Given the description of an element on the screen output the (x, y) to click on. 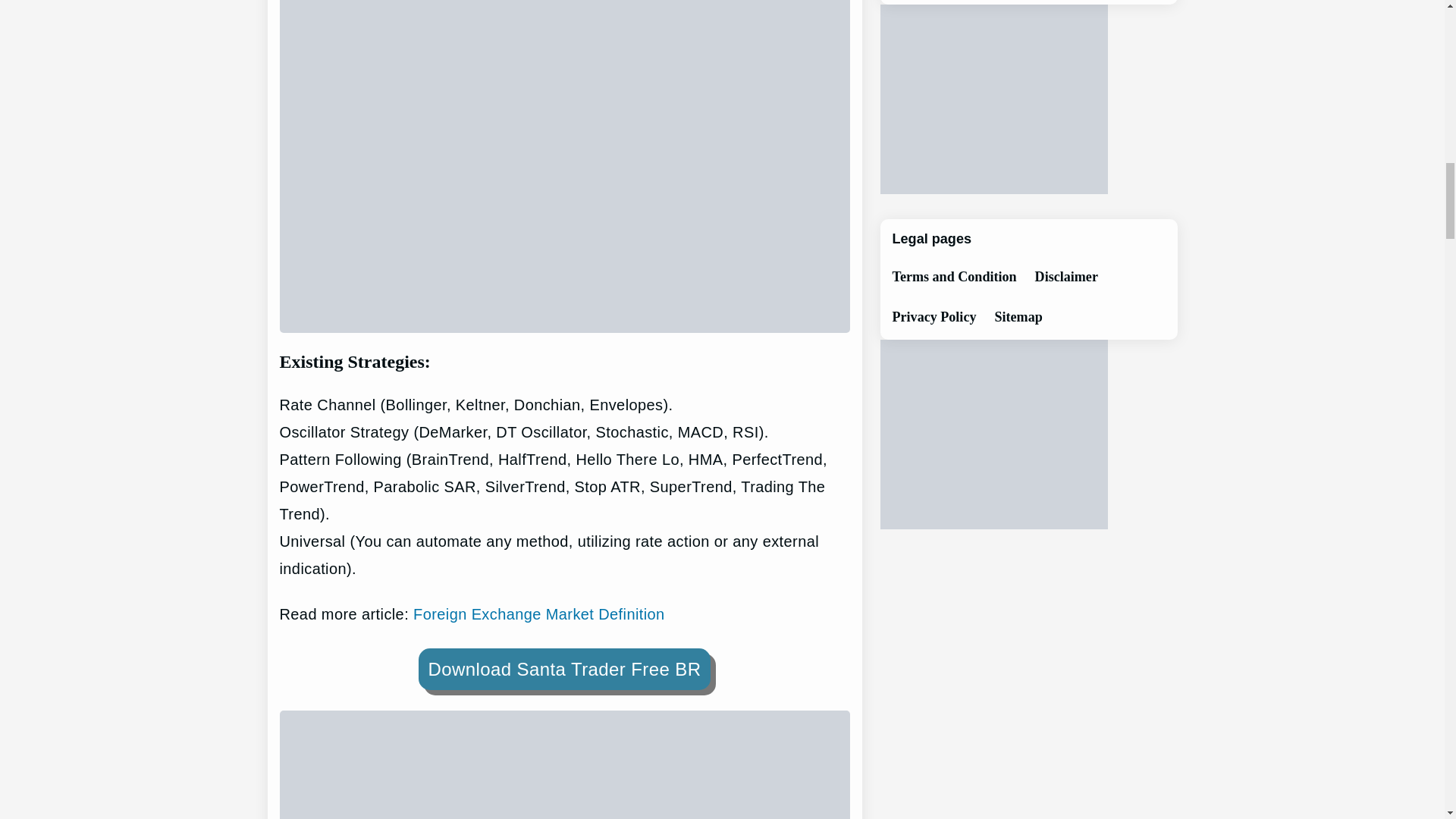
Foreign Exchange Market Definition (539, 614)
Download Santa Trader Free BR (565, 669)
